Given the description of an element on the screen output the (x, y) to click on. 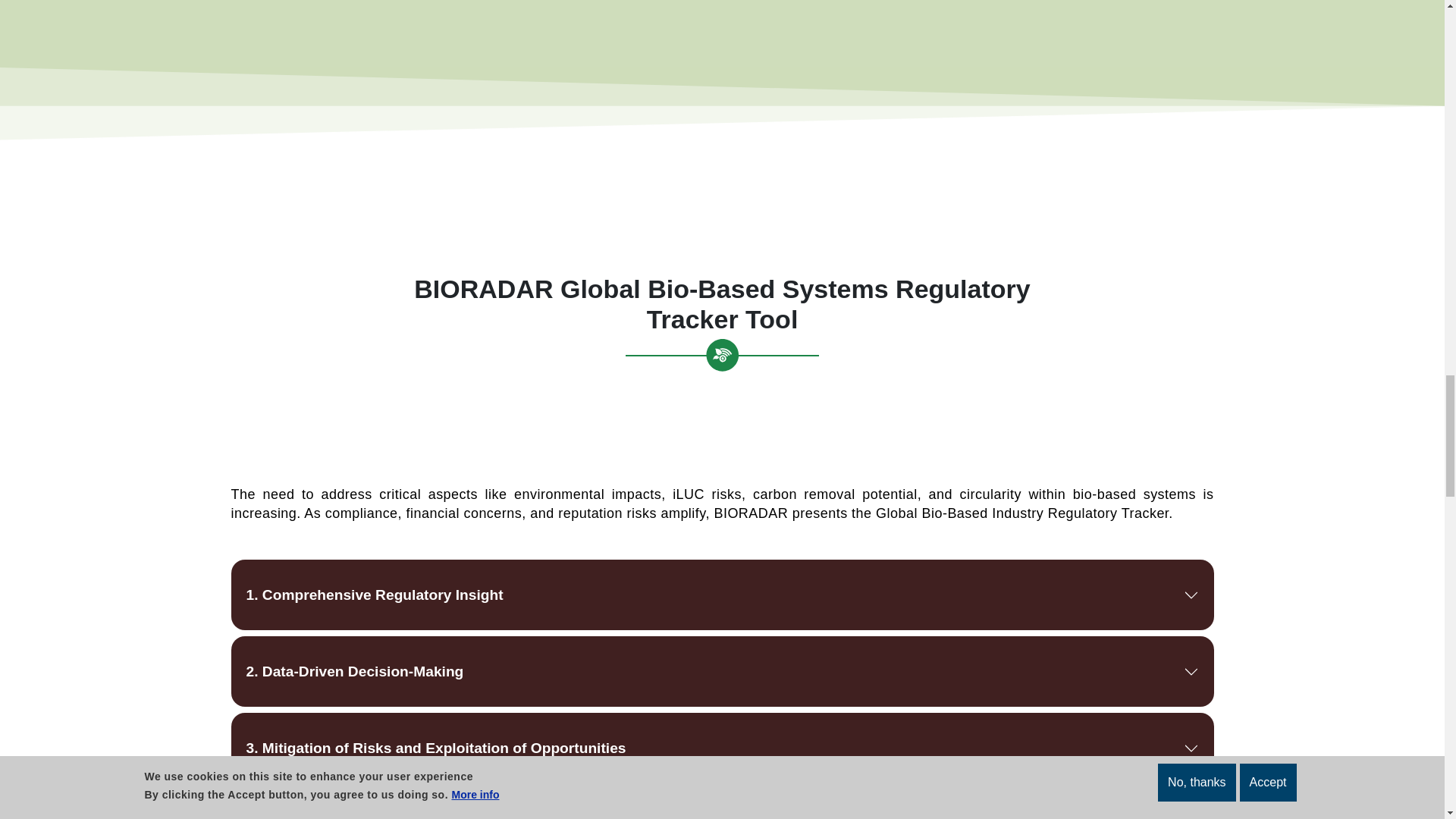
1. Comprehensive Regulatory Insight (721, 594)
2. Data-Driven Decision-Making (721, 671)
3. Mitigation of Risks and Exploitation of Opportunities (721, 747)
